Given the description of an element on the screen output the (x, y) to click on. 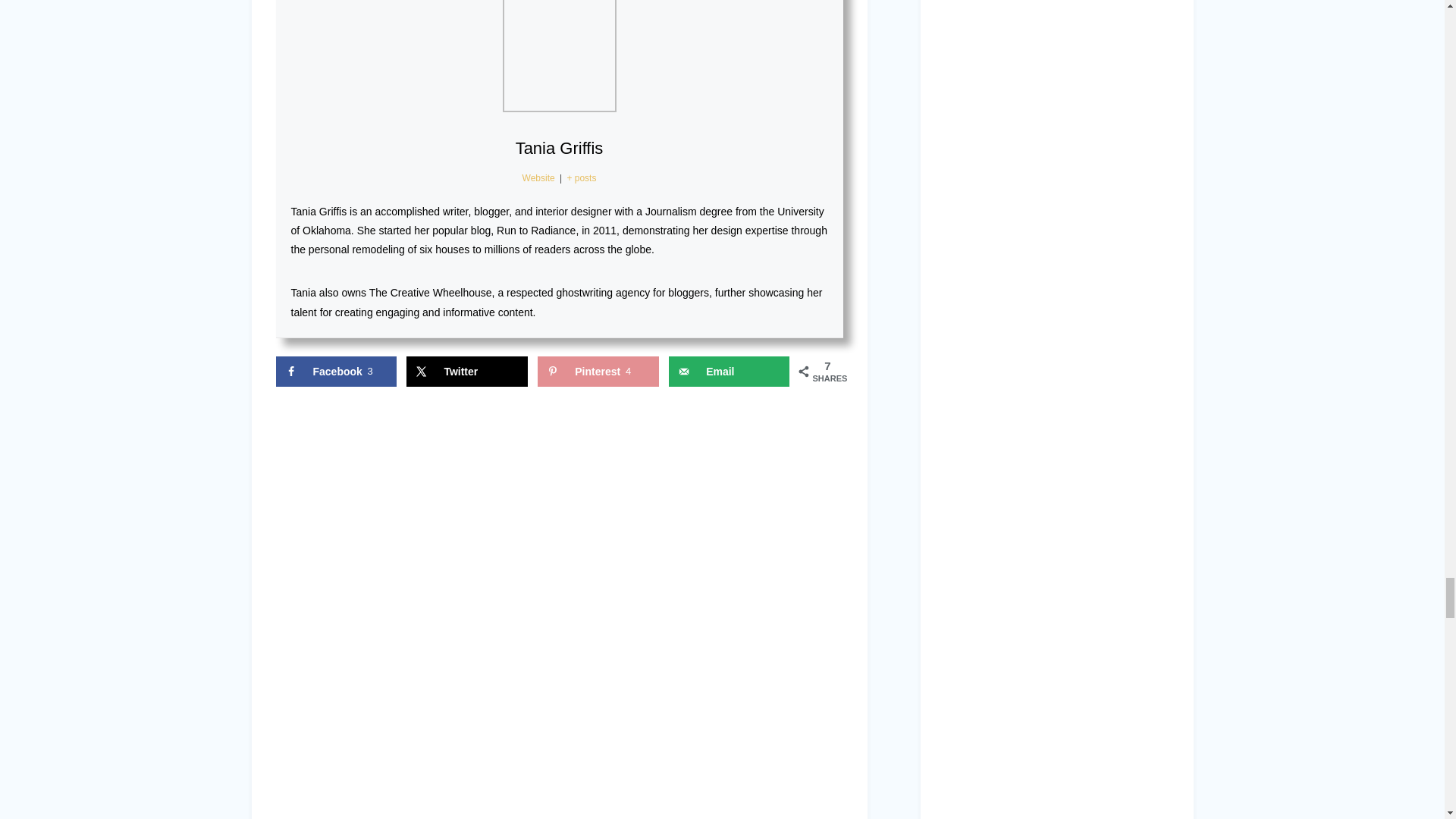
Send over email (728, 371)
Share on Facebook (336, 371)
Share on X (466, 371)
Save to Pinterest (597, 371)
